Given the description of an element on the screen output the (x, y) to click on. 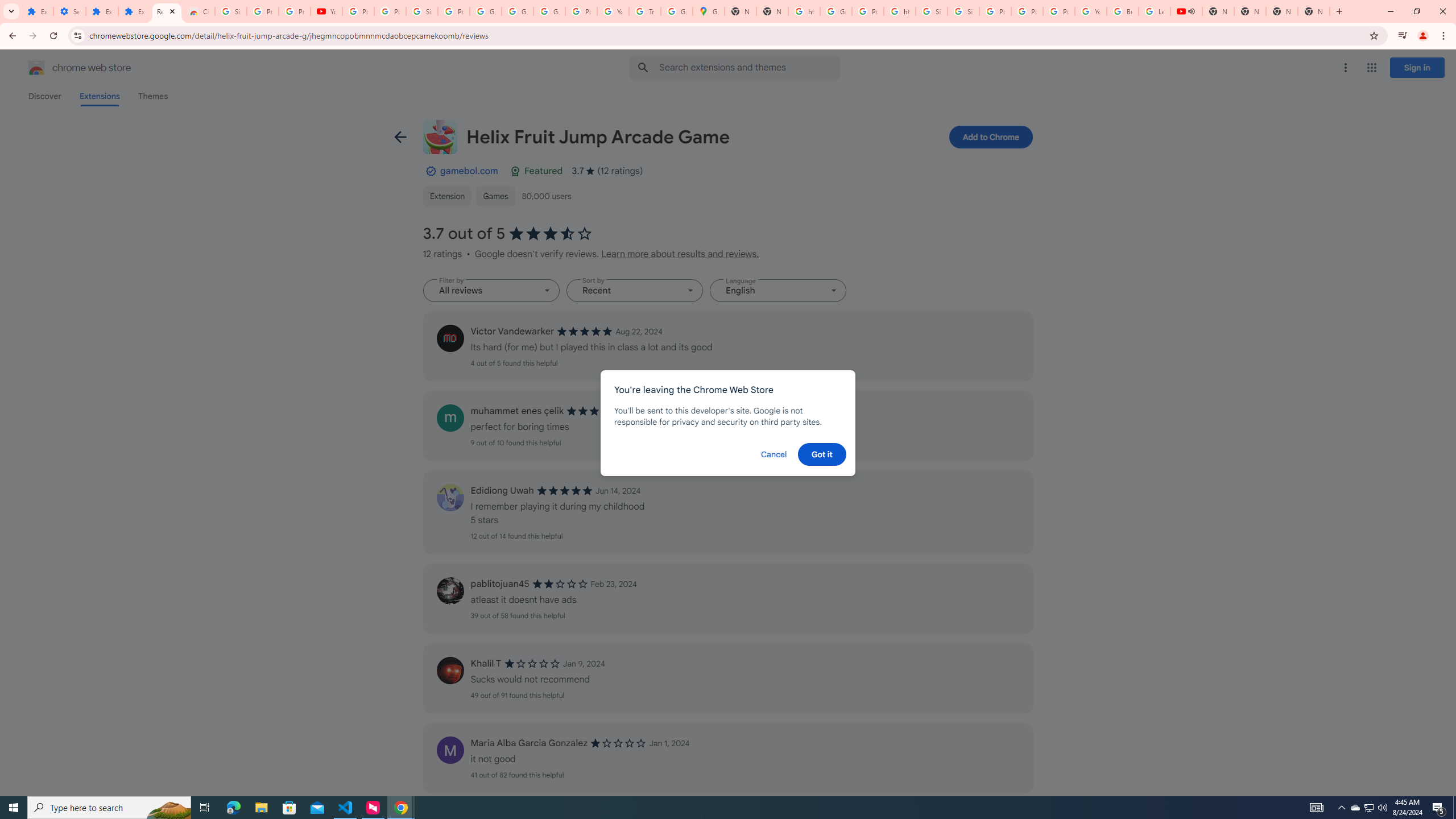
Privacy Help Center - Policies Help (1027, 11)
Extensions (101, 11)
Privacy Help Center - Policies Help (995, 11)
New Tab (1313, 11)
https://scholar.google.com/ (804, 11)
Got it (821, 454)
New Tab (1281, 11)
Extensions (37, 11)
